Given the description of an element on the screen output the (x, y) to click on. 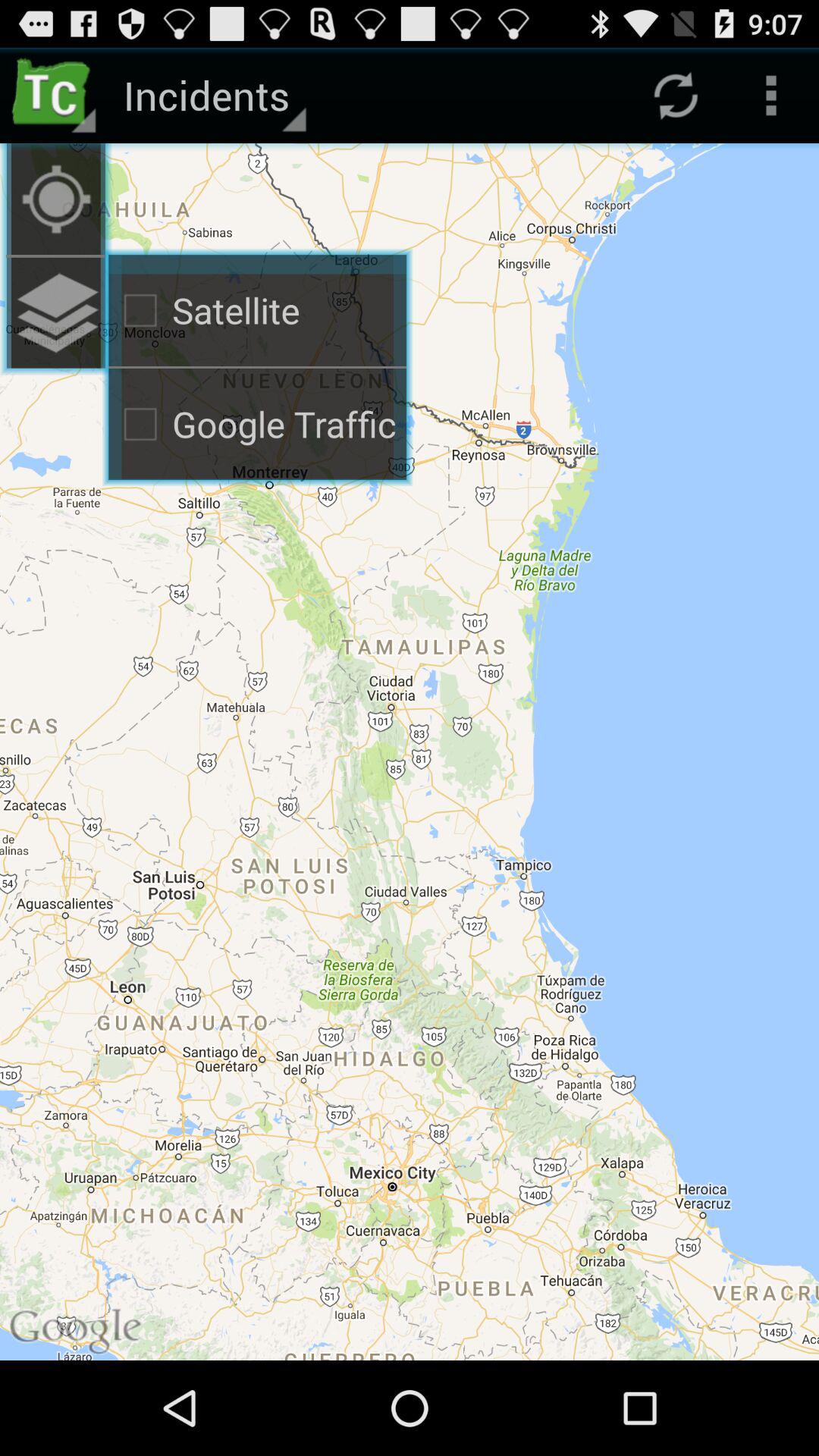
tap checkbox to the left of satellite item (55, 198)
